Given the description of an element on the screen output the (x, y) to click on. 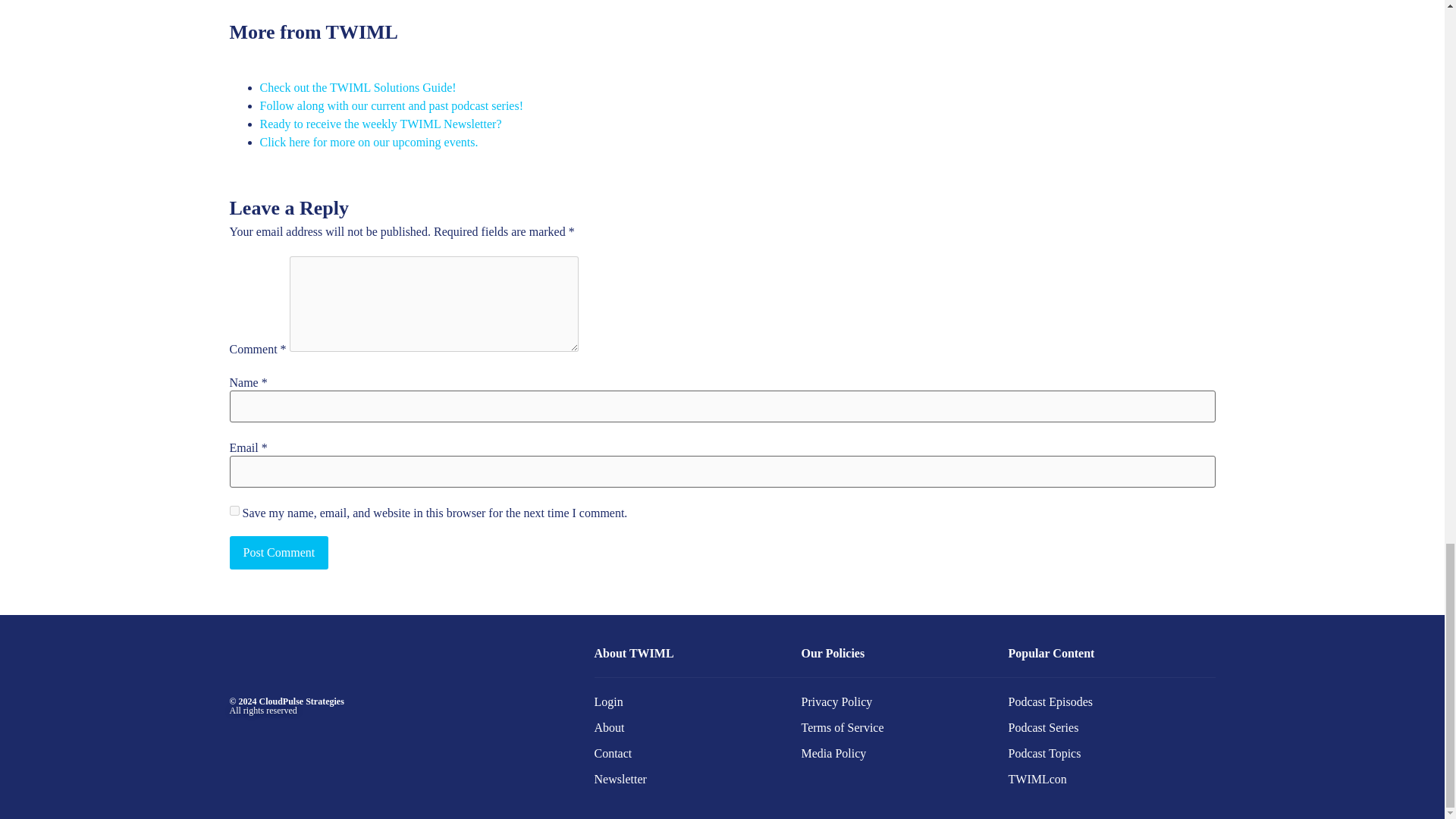
Post Comment (278, 552)
yes (233, 510)
